Given the description of an element on the screen output the (x, y) to click on. 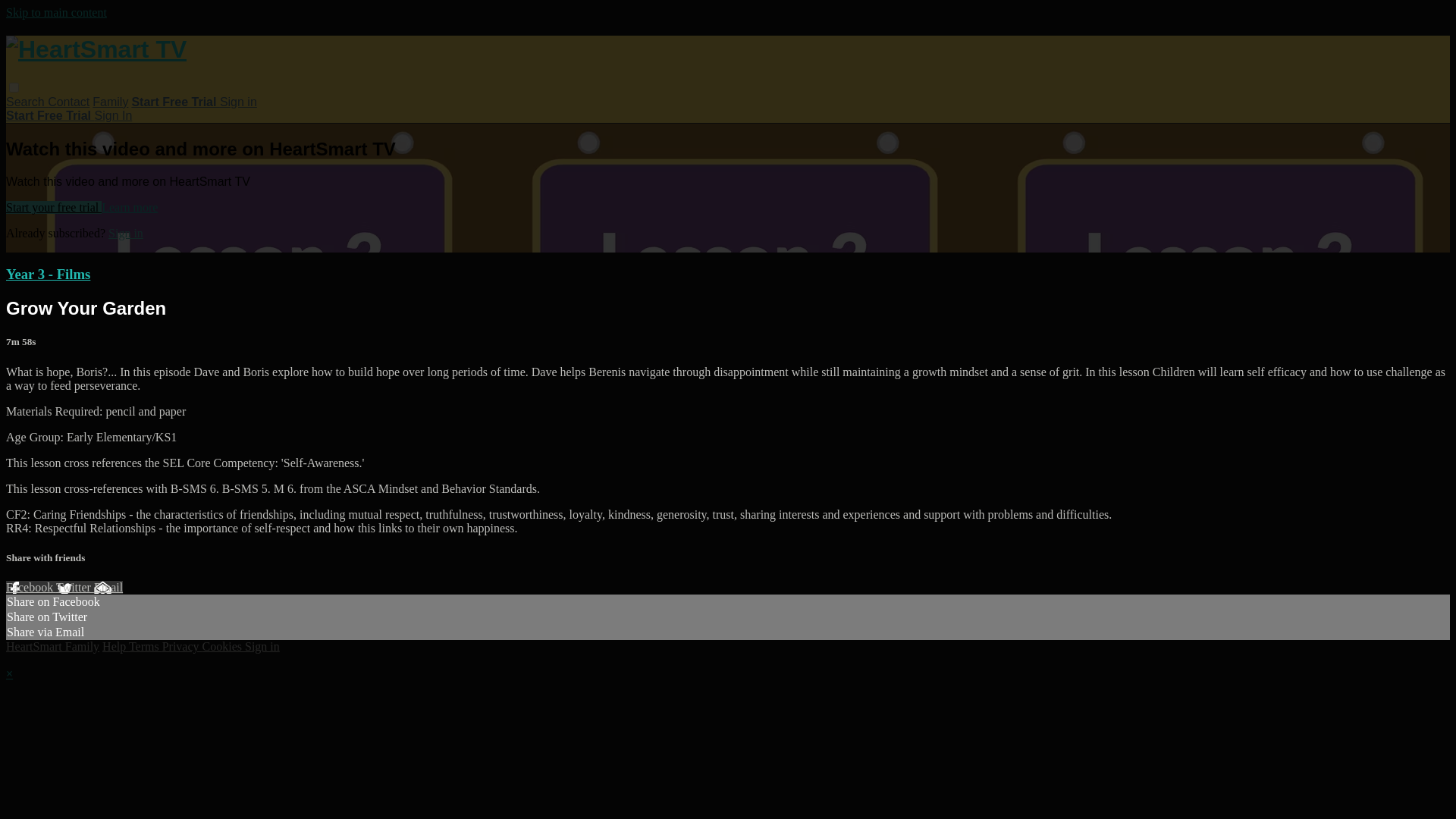
Sign in (238, 101)
Terms (145, 645)
Sign In (113, 115)
Start your free trial (53, 206)
Start Free Trial (175, 101)
Cookies (223, 645)
Year 3 - Films (47, 273)
Sign in (124, 232)
Email (108, 586)
Family (110, 101)
Facebook (30, 586)
Contact (68, 101)
Learn more (129, 206)
Skip to main content (55, 11)
Privacy (181, 645)
